Given the description of an element on the screen output the (x, y) to click on. 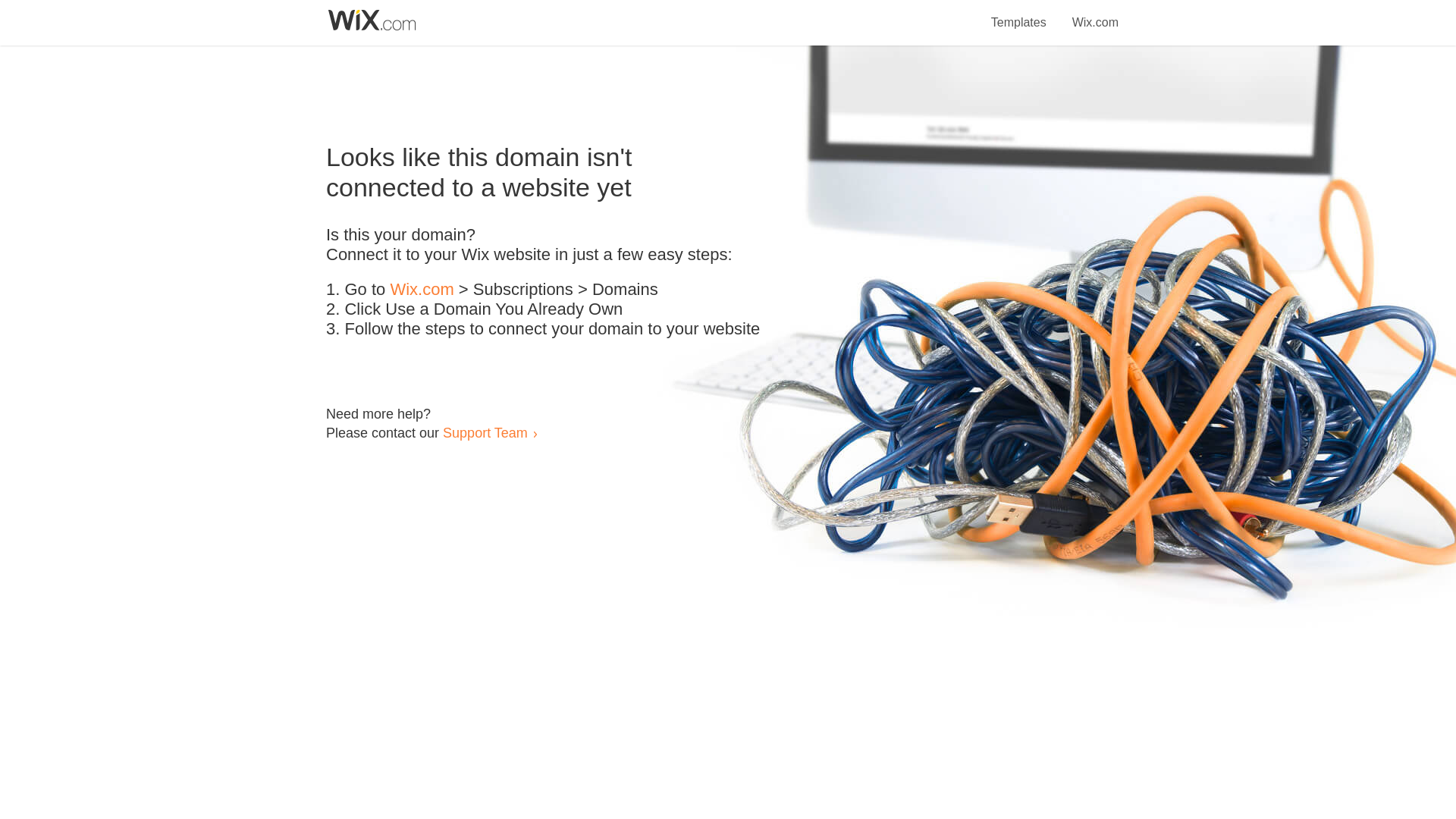
Wix.com (1095, 14)
Support Team (484, 432)
Templates (1018, 14)
Wix.com (421, 289)
